Given the description of an element on the screen output the (x, y) to click on. 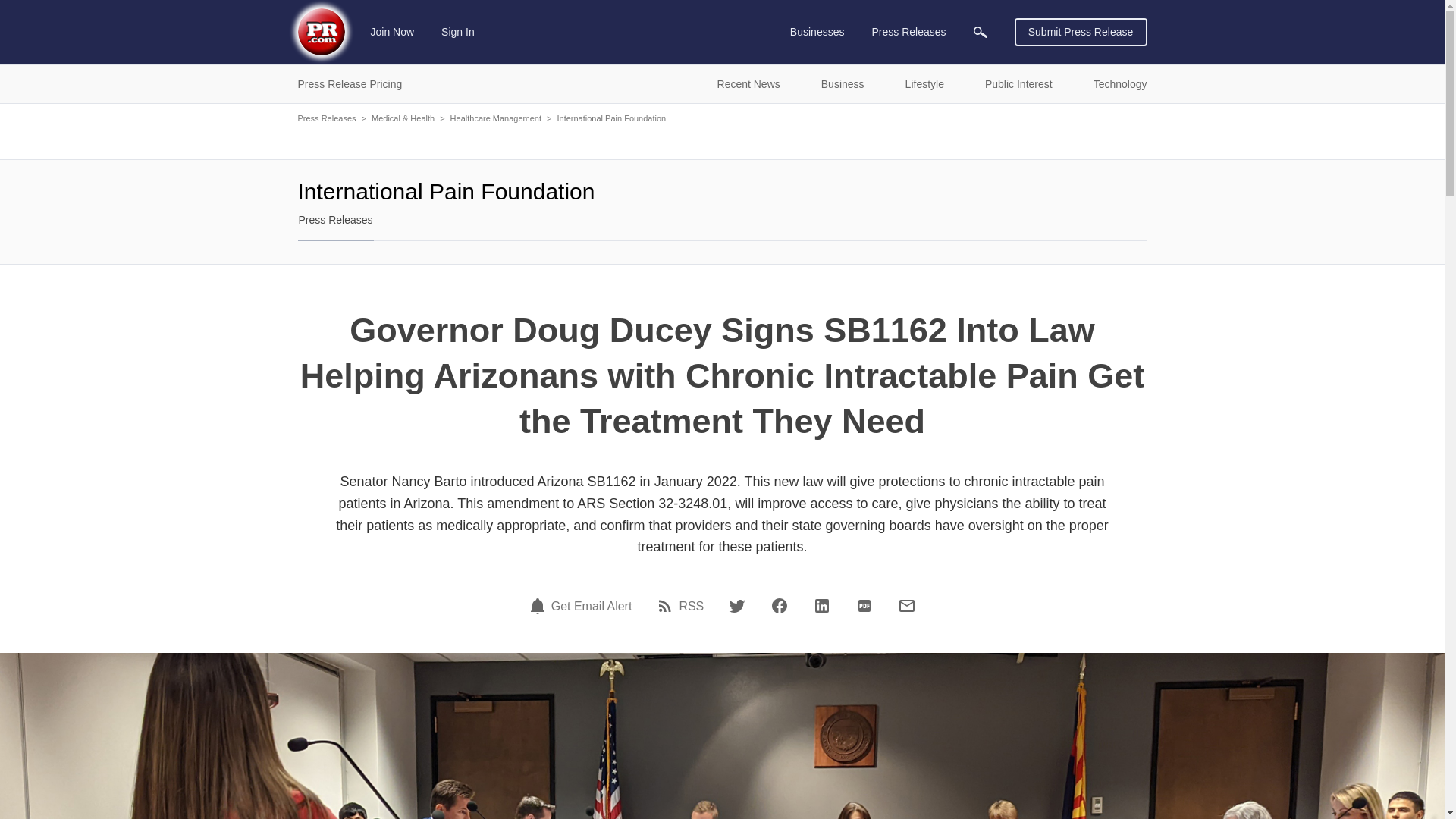
Join Now (392, 31)
Sign In (458, 31)
Businesses (817, 31)
Submit Press Release (1080, 31)
Press Releases (908, 31)
